Given the description of an element on the screen output the (x, y) to click on. 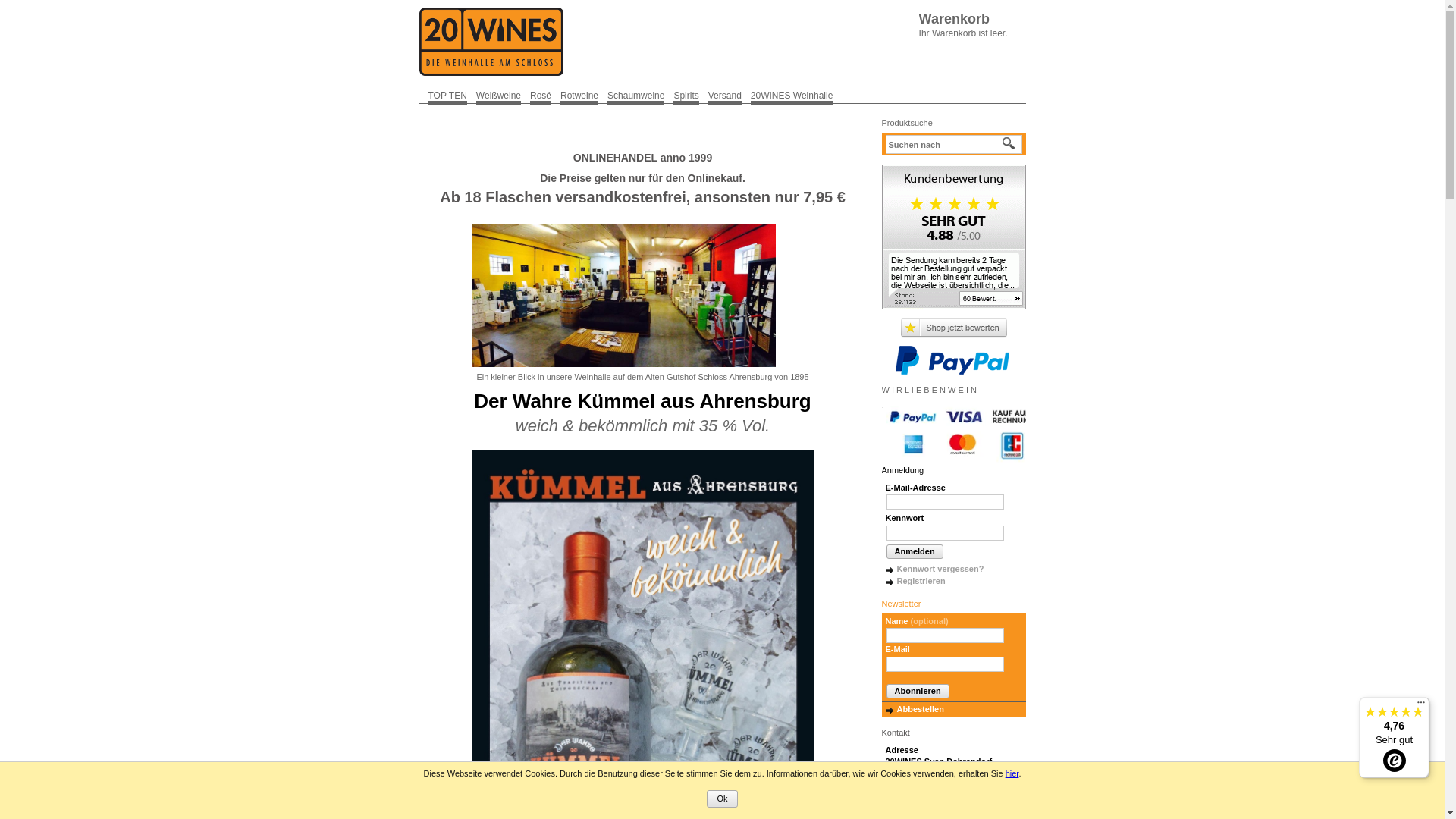
Versand Element type: text (724, 94)
Ok Element type: text (721, 798)
TOP TEN Element type: text (446, 94)
Registrieren Element type: text (915, 580)
Kundenbewertungen anzeigen Element type: hover (953, 236)
hier Element type: text (1012, 773)
Rotweine Element type: text (579, 94)
Abonnieren Element type: text (916, 691)
Trusted Shops Kundenbewertungen Element type: hover (953, 327)
Kennwort vergessen? Element type: text (934, 568)
Paypal plus 20WINES Element type: hover (961, 434)
Schaumweine Element type: text (635, 94)
20WINESSHOP Element type: hover (490, 41)
Suche starten Element type: hover (1008, 143)
Abbestellen Element type: text (914, 708)
Anmelden Element type: text (913, 551)
20WINES Weinhalle Element type: text (791, 94)
Spirits Element type: text (685, 94)
PayPal PLUS Element type: hover (951, 359)
